Given the description of an element on the screen output the (x, y) to click on. 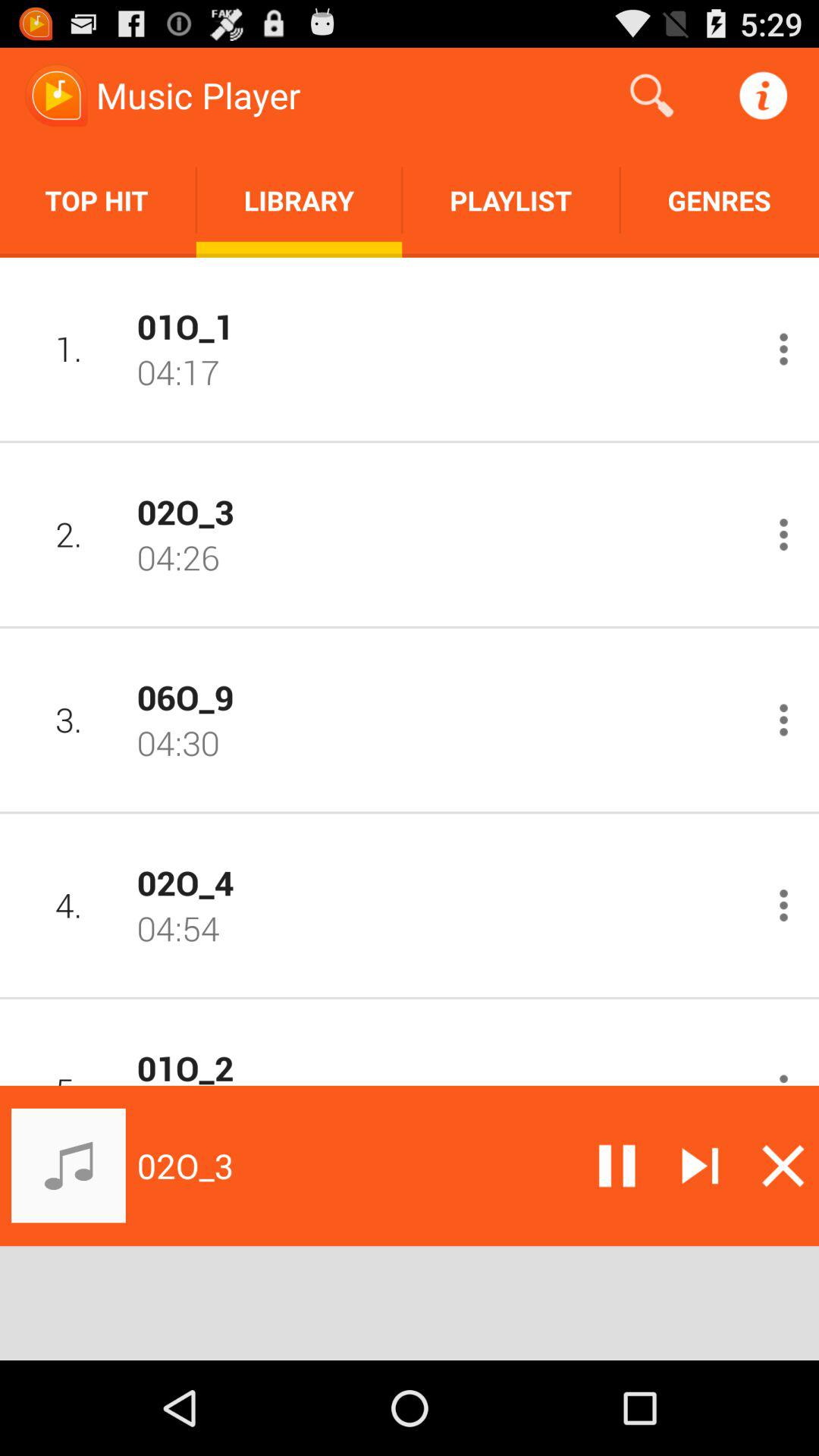
choose the icon to the left of the 02o_3 app (68, 534)
